Given the description of an element on the screen output the (x, y) to click on. 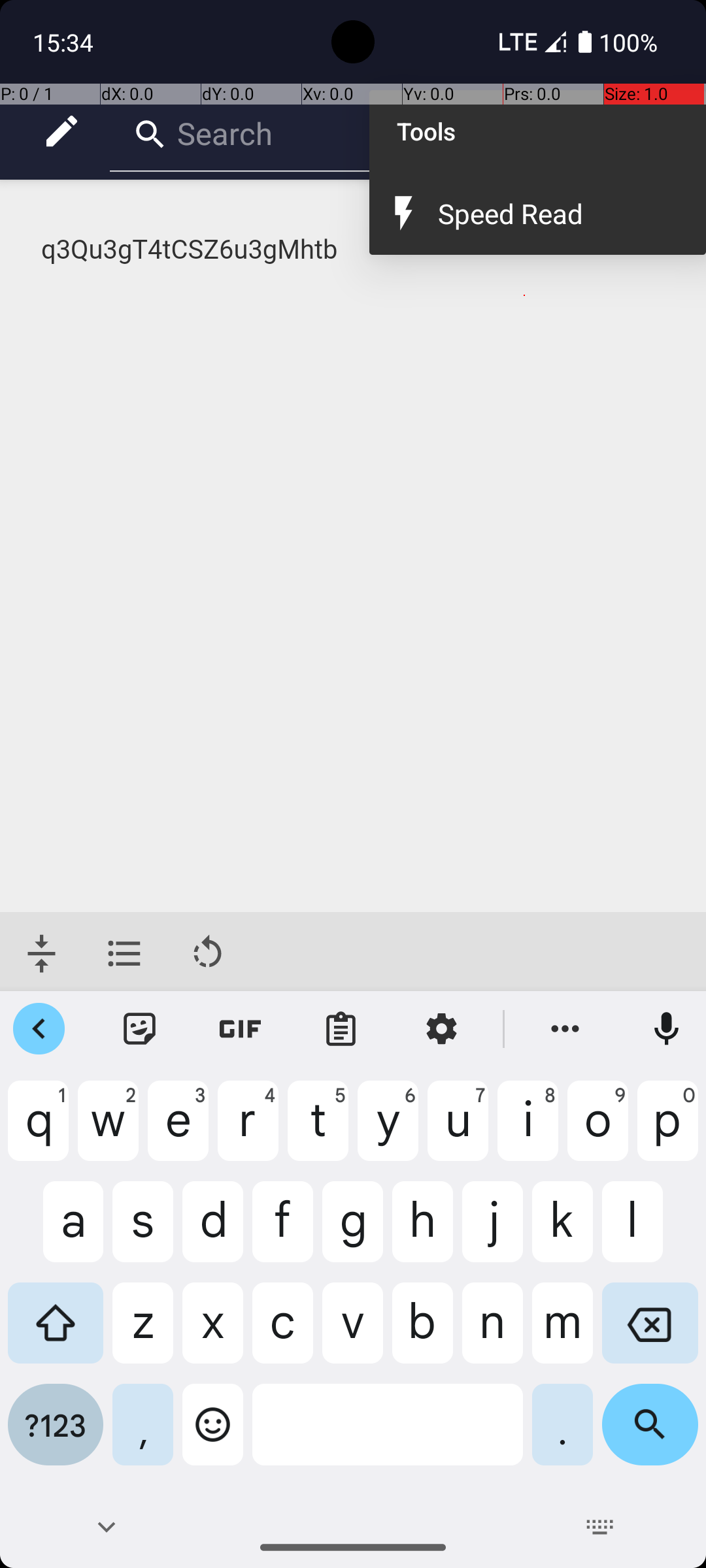
Tools Element type: android.widget.TextView (537, 130)
Speed Read Element type: android.widget.TextView (557, 212)
